Given the description of an element on the screen output the (x, y) to click on. 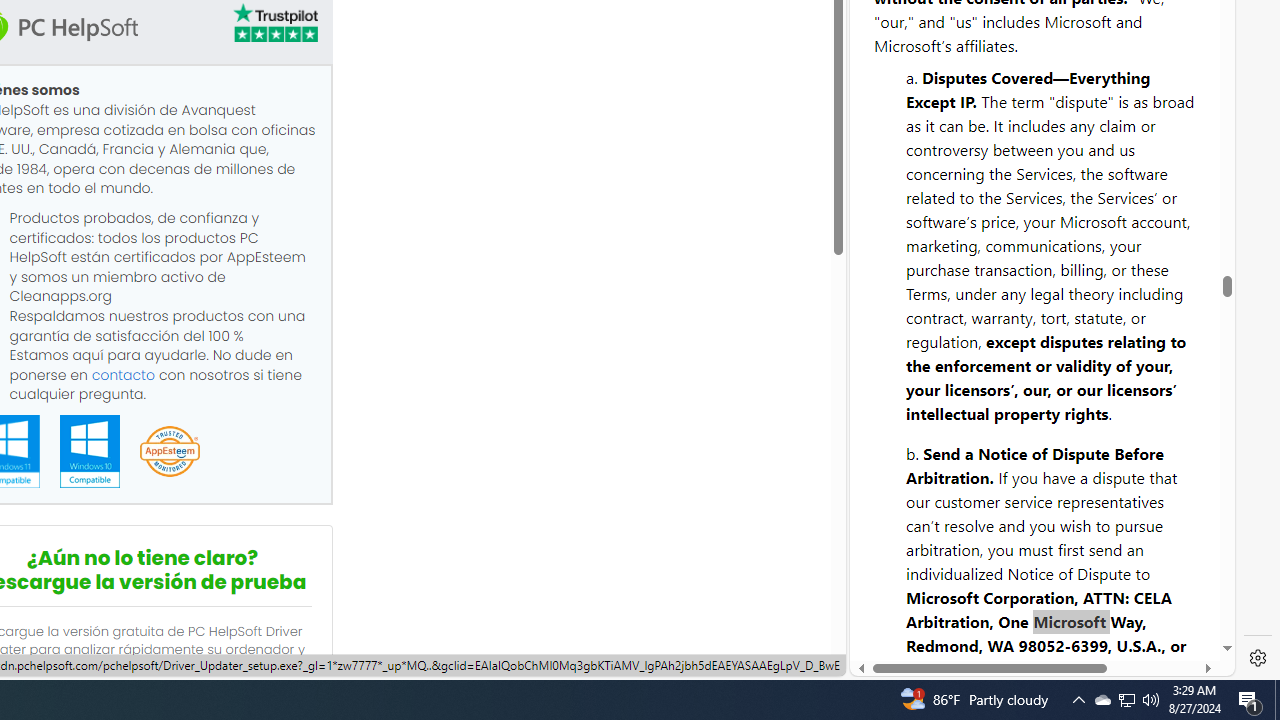
App Esteem (169, 452)
contacto (123, 374)
TrustPilot (274, 25)
